Given the description of an element on the screen output the (x, y) to click on. 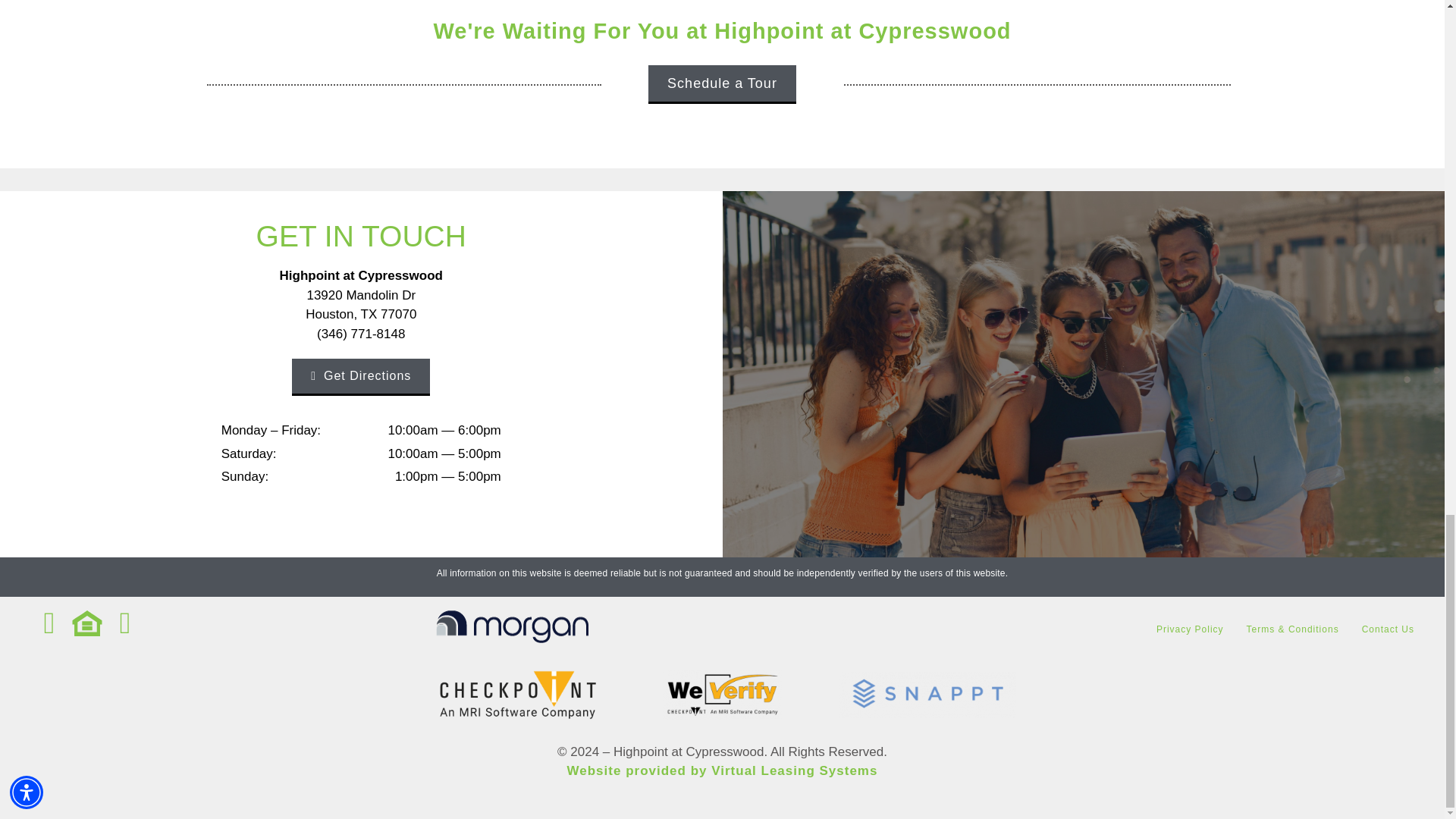
CheckpointID logo (517, 694)
Website provided by Virtual Leasing Systems (722, 770)
Get Directions (360, 376)
Contact Us (1388, 629)
Schedule a Tour (721, 84)
Privacy Policy (1189, 629)
